Given the description of an element on the screen output the (x, y) to click on. 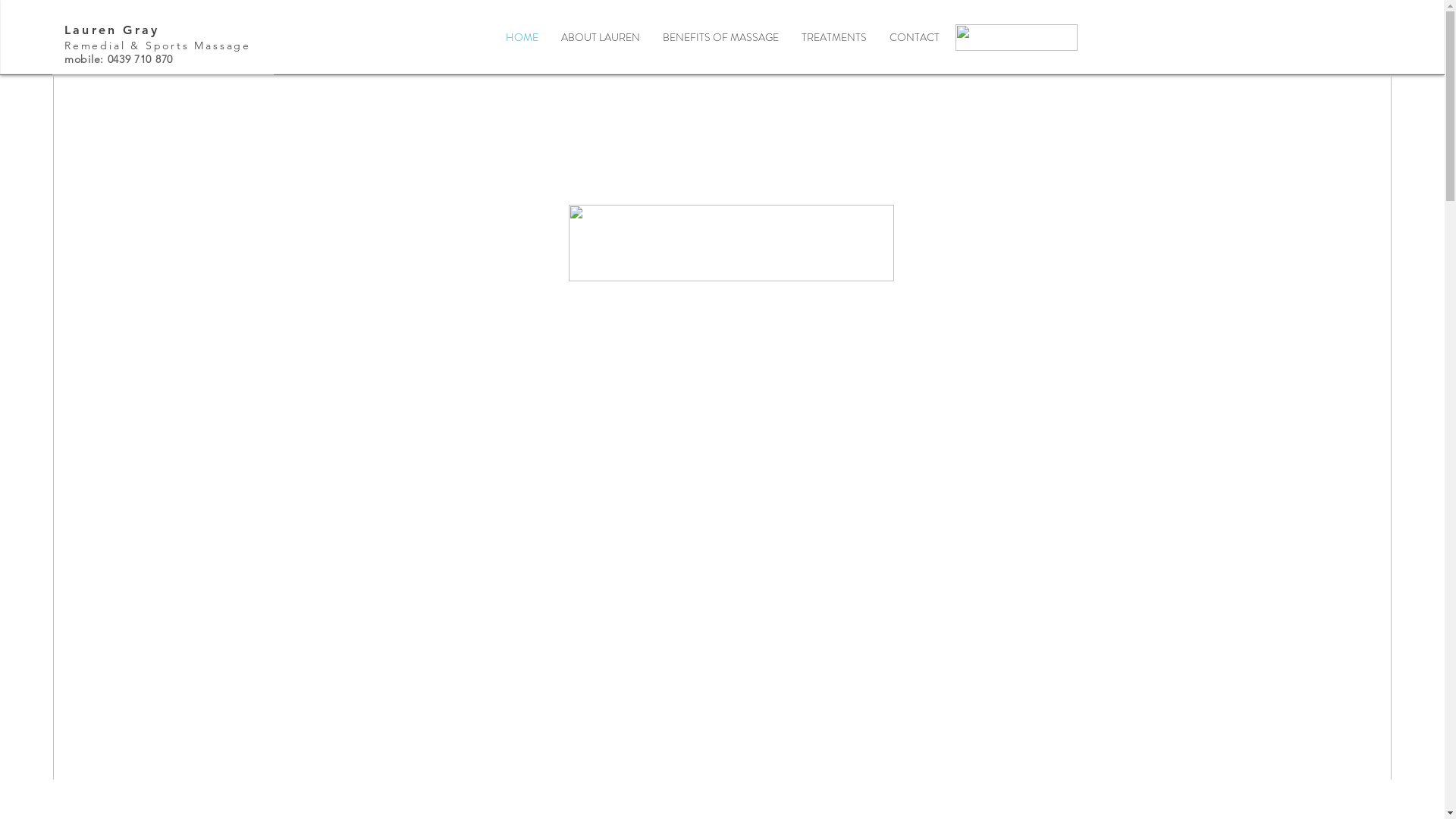
Remedial & Sports Massage Element type: text (157, 45)
CONTACT Element type: text (914, 37)
ABOUT LAUREN Element type: text (599, 37)
Lauren Gray Element type: text (111, 29)
HOME Element type: text (521, 37)
